Given the description of an element on the screen output the (x, y) to click on. 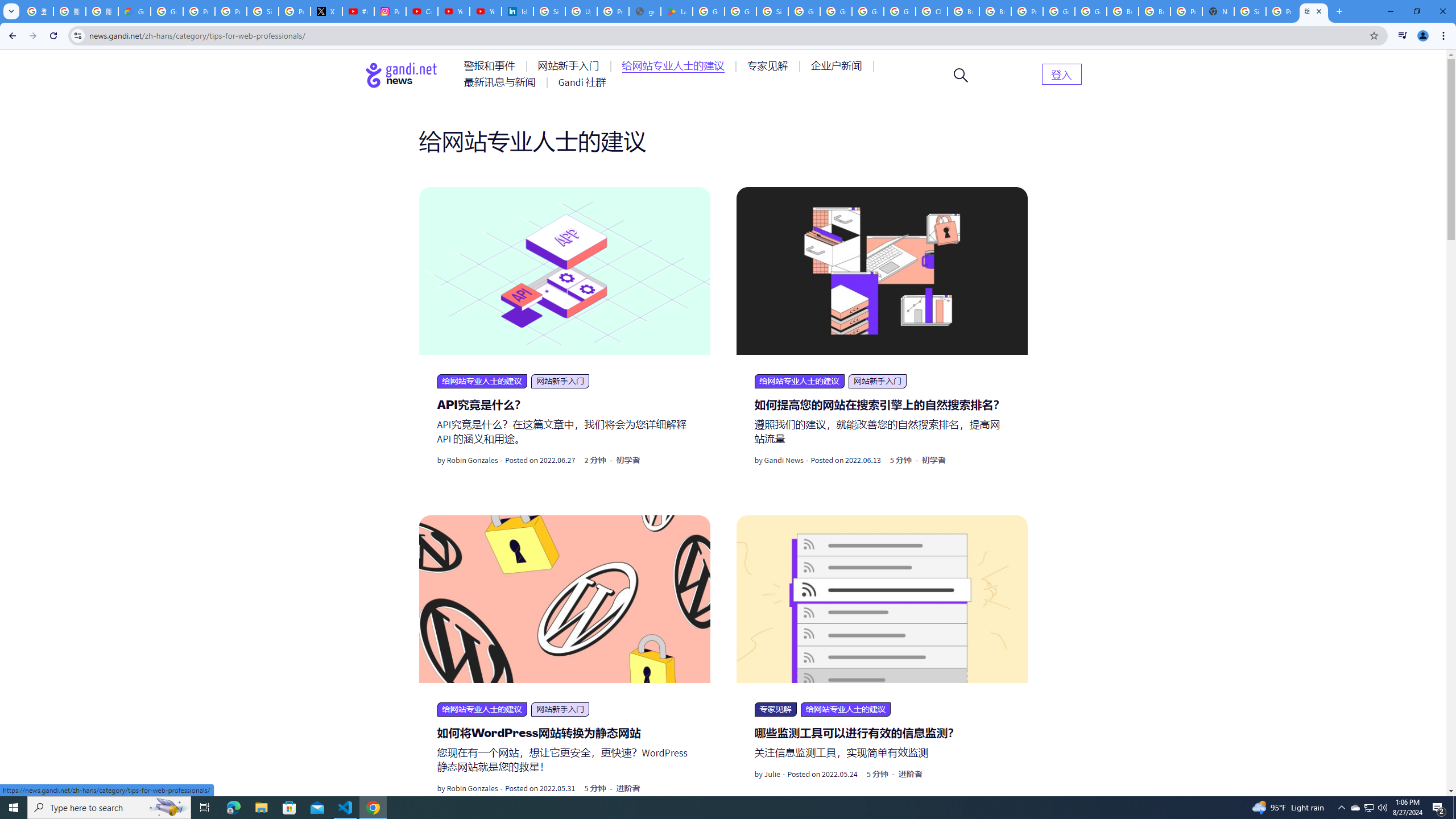
Google Cloud Privacy Notice (134, 11)
Last Shelter: Survival - Apps on Google Play (676, 11)
Gandi News (783, 460)
Open search form (960, 74)
Google Workspace - Specific Terms (740, 11)
Browse Chrome as a guest - Computer - Google Chrome Help (963, 11)
AutomationID: menu-item-77765 (838, 65)
Browse Chrome as a guest - Computer - Google Chrome Help (1123, 11)
